Given the description of an element on the screen output the (x, y) to click on. 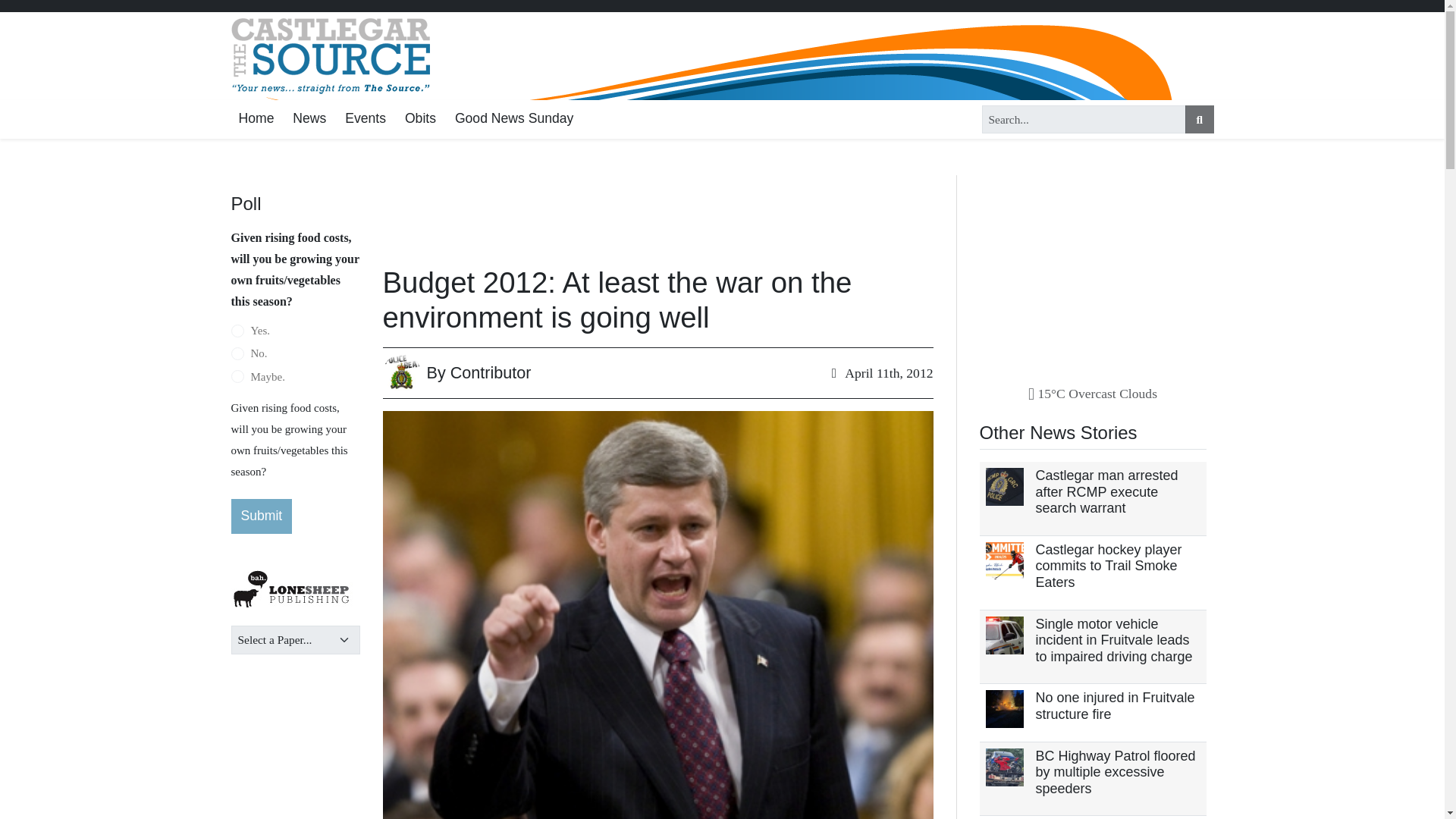
Events (365, 118)
No. (237, 354)
3rd party ad content (637, 211)
Good News Sunday (513, 118)
Yes. (237, 331)
Maybe. (237, 377)
Submit (261, 515)
Home (255, 118)
News (309, 118)
Submit (261, 515)
Obits (420, 118)
3rd party ad content (1093, 269)
